Given the description of an element on the screen output the (x, y) to click on. 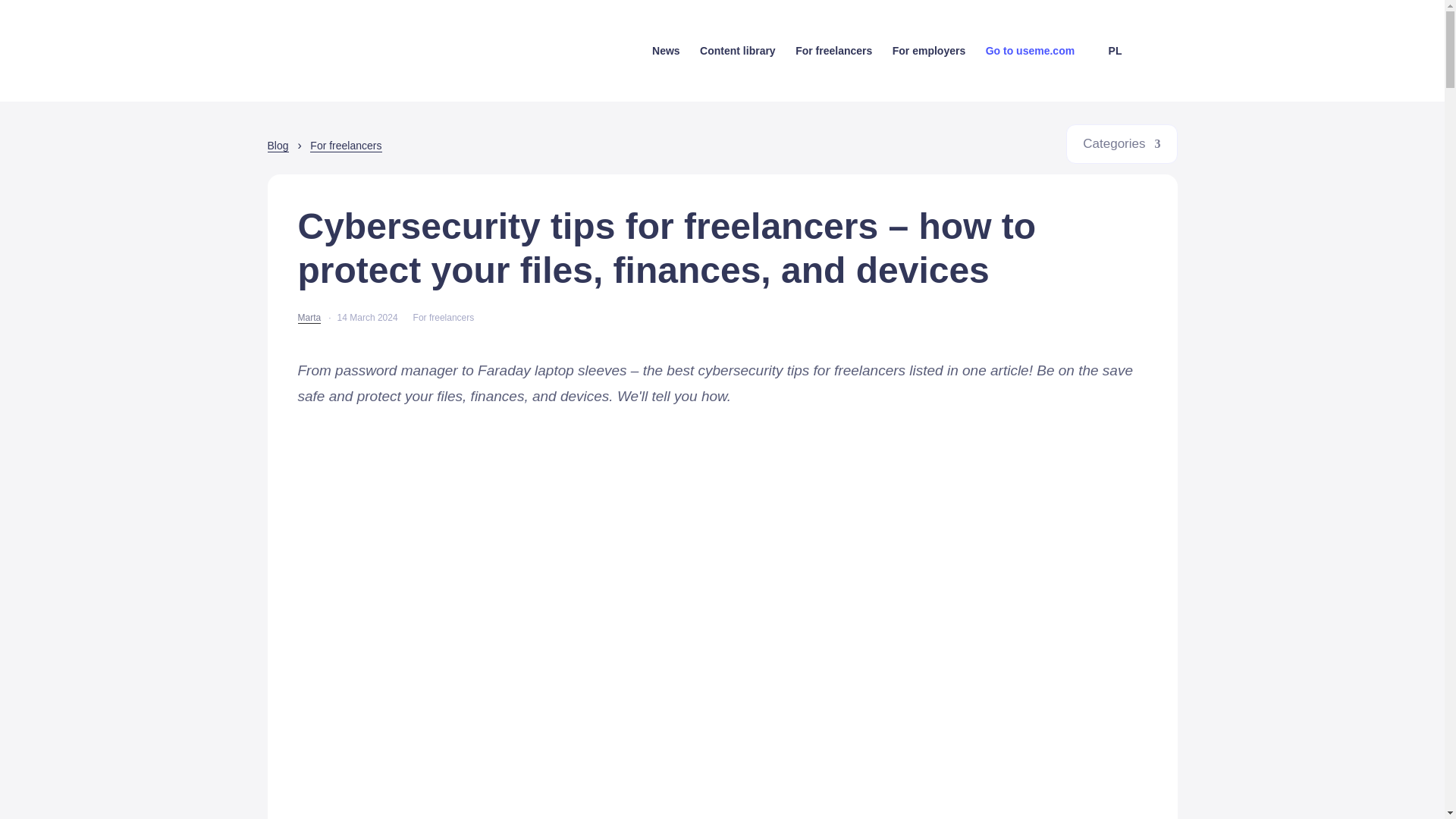
Categories (1121, 143)
For freelancers (833, 72)
For freelancers (443, 317)
Marta (308, 317)
Content library (738, 72)
For freelancers (345, 145)
For employers (928, 72)
Blog (277, 145)
Go to useme.com (1036, 72)
